Given the description of an element on the screen output the (x, y) to click on. 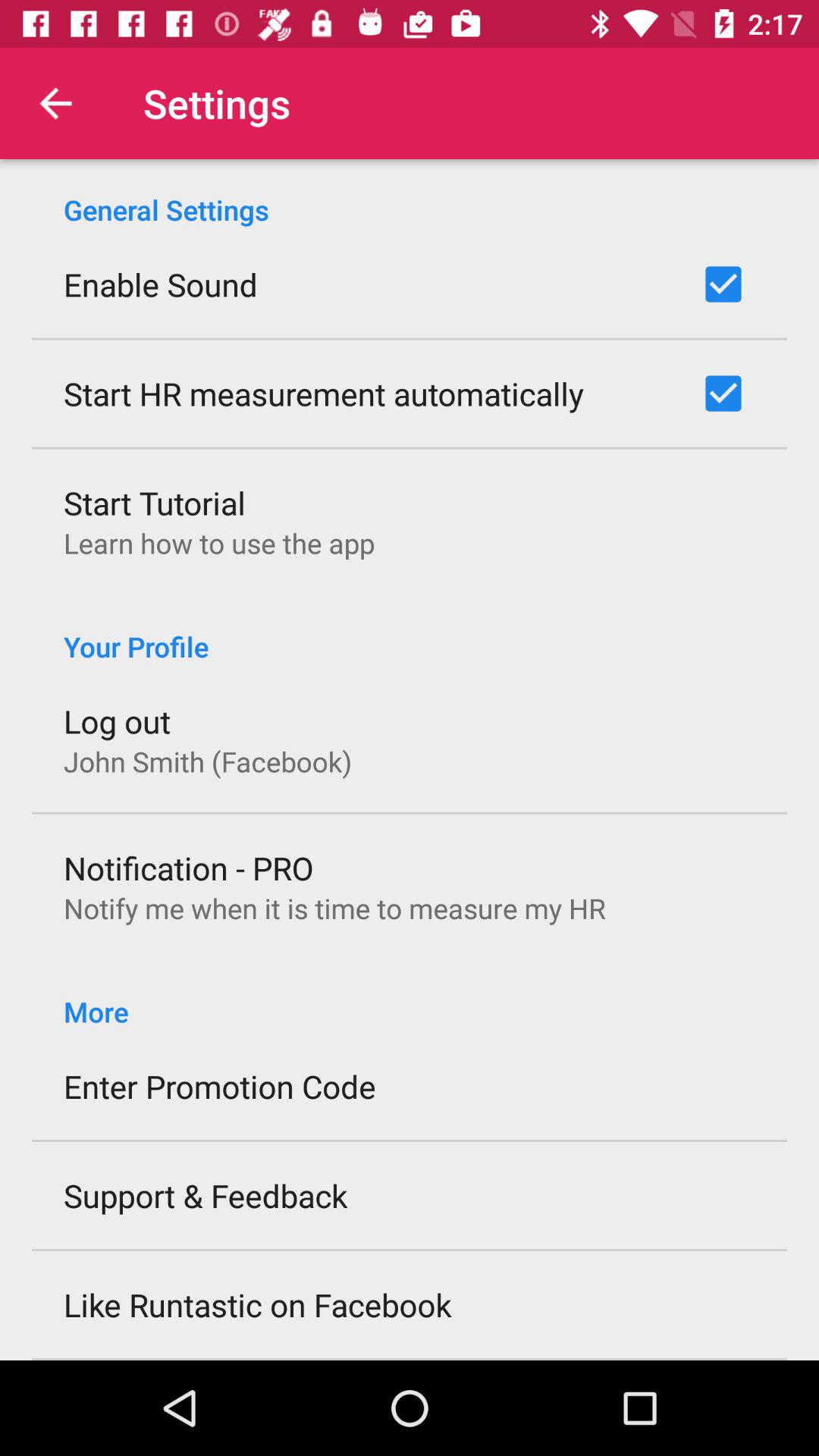
flip until enable sound icon (160, 283)
